Given the description of an element on the screen output the (x, y) to click on. 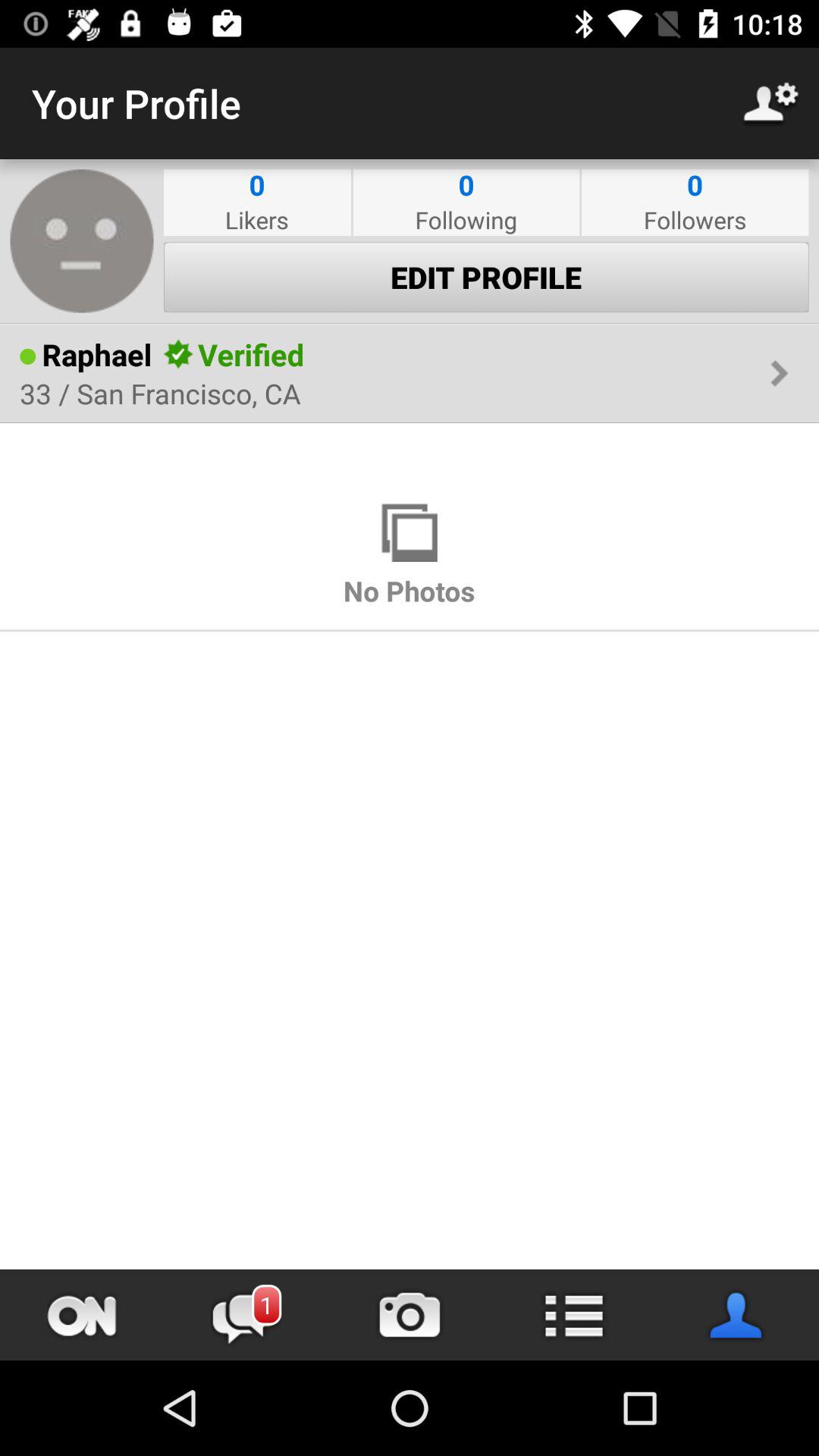
click icon to the right of the following item (694, 219)
